Given the description of an element on the screen output the (x, y) to click on. 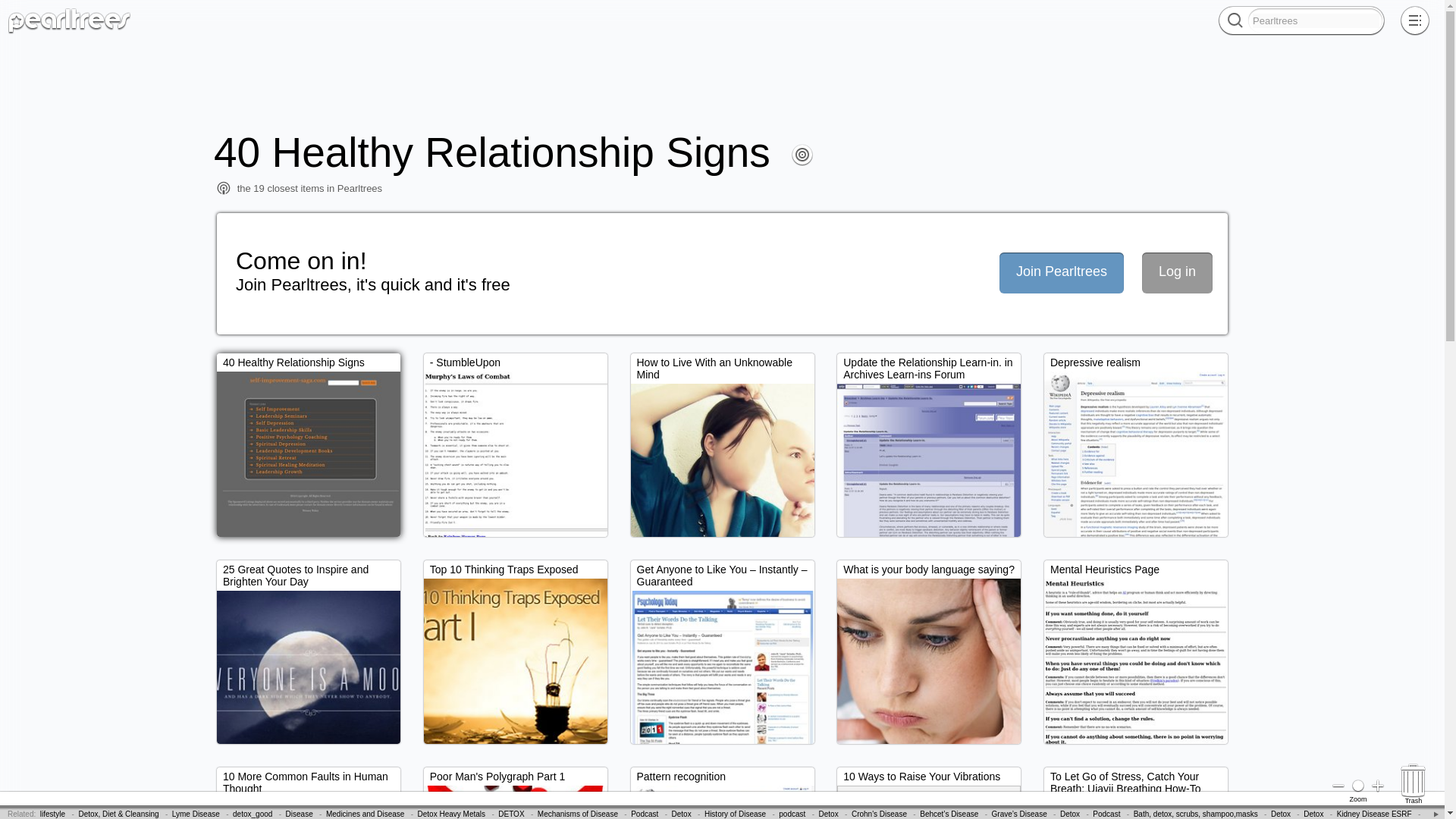
Podcast (1106, 813)
Crohn's Disease (879, 813)
podcast (791, 813)
Detox (681, 813)
Detox (1069, 813)
Lyme Disease (195, 813)
History of Disease (734, 813)
DETOX (510, 813)
Detox Heavy Metals (450, 813)
Disease (299, 813)
Detox (1313, 813)
Mechanisms of Disease (577, 813)
Kidney Disease ESRF (1374, 813)
Podcast (644, 813)
lifestyle (52, 813)
